Given the description of an element on the screen output the (x, y) to click on. 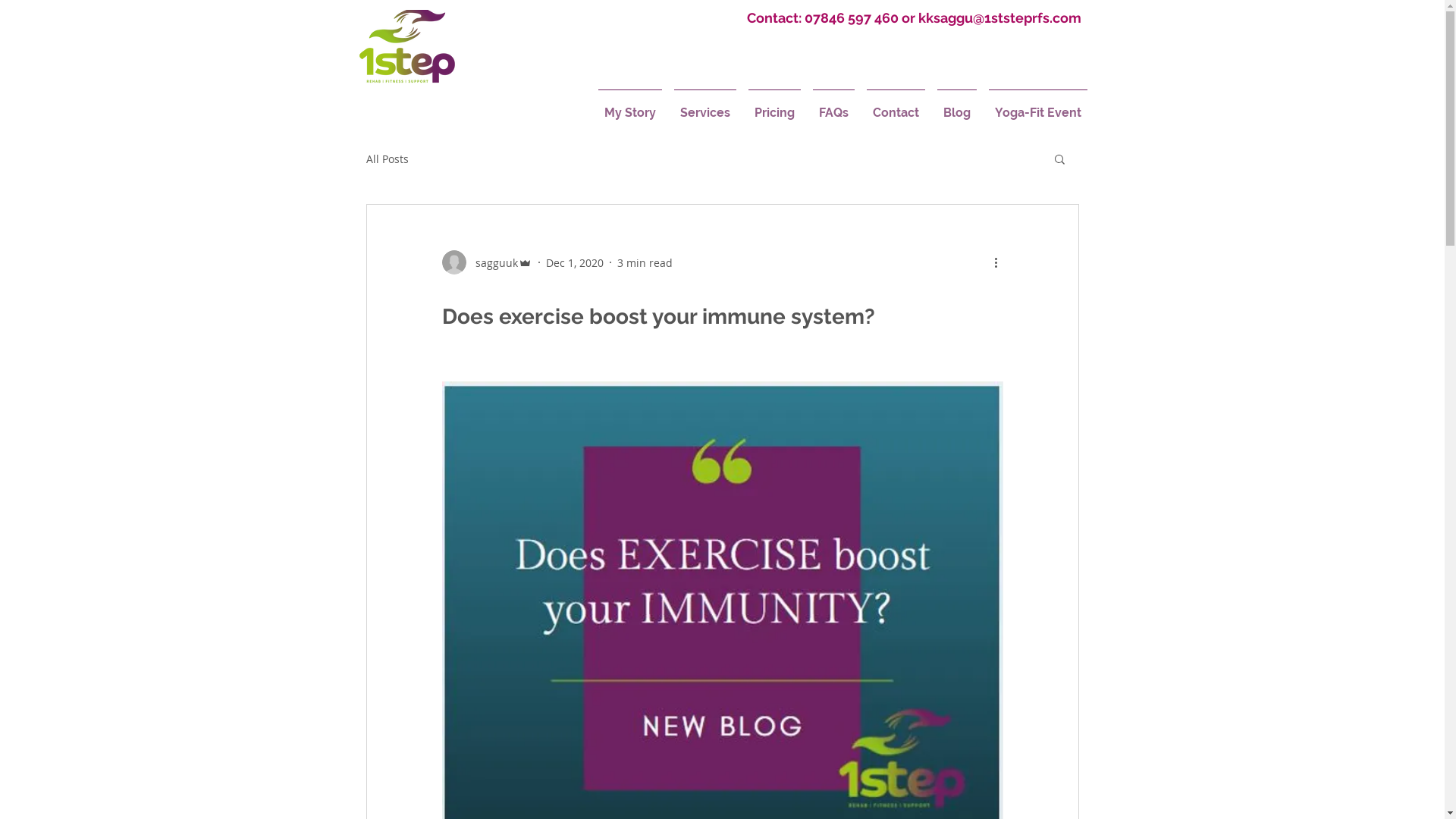
Pricing Element type: text (773, 105)
FAQs Element type: text (833, 105)
All Posts Element type: text (386, 158)
kksaggu@1ststeprfs.com Element type: text (998, 17)
My Story Element type: text (629, 105)
Contact Element type: text (894, 105)
Services Element type: text (704, 105)
Blog Element type: text (956, 105)
sagguuk Element type: text (486, 262)
Yoga-Fit Event Element type: text (1037, 105)
